Given the description of an element on the screen output the (x, y) to click on. 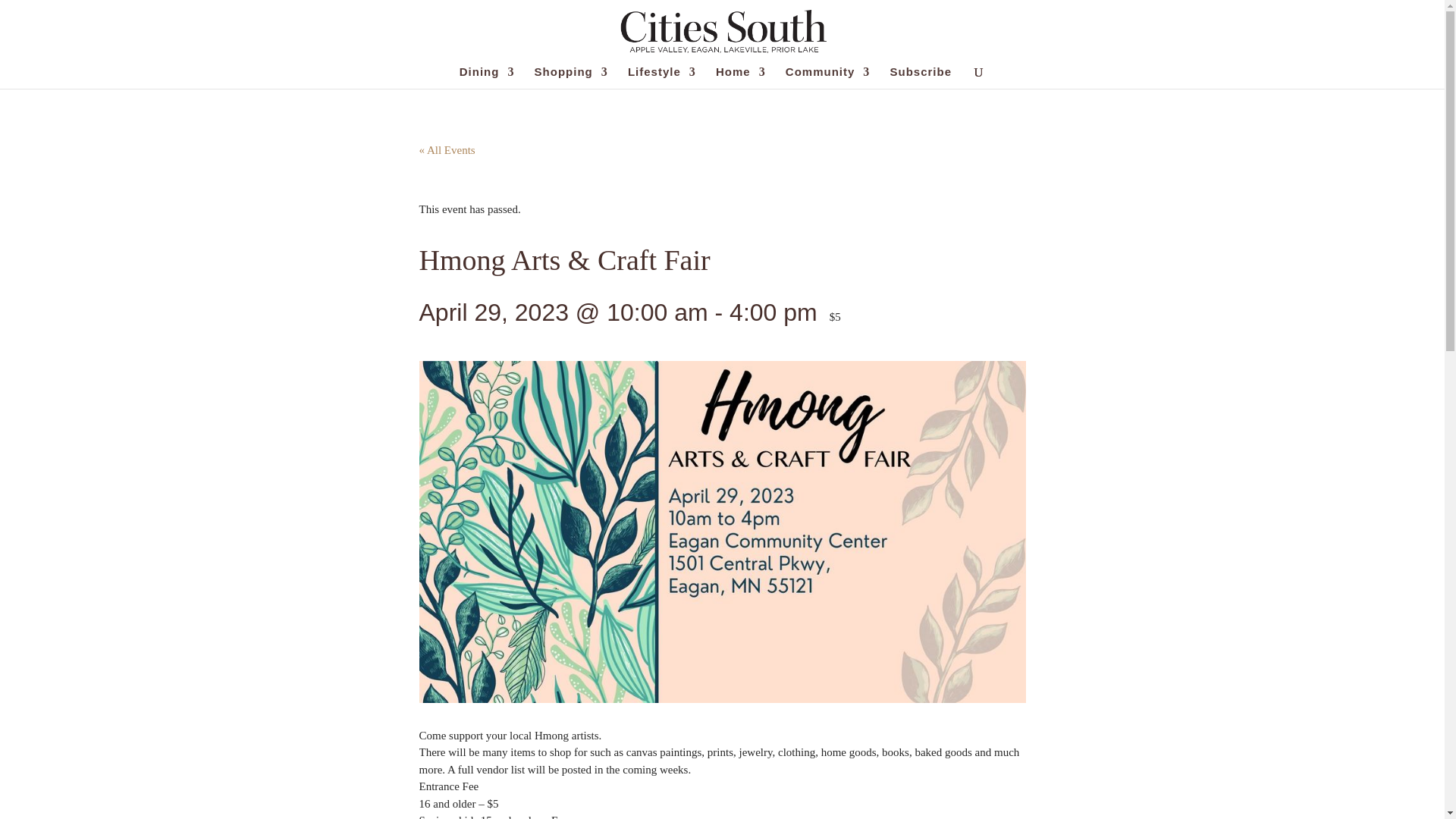
Dining (487, 77)
Subscribe (920, 77)
Shopping (571, 77)
Home (740, 77)
Community (828, 77)
Lifestyle (661, 77)
